Given the description of an element on the screen output the (x, y) to click on. 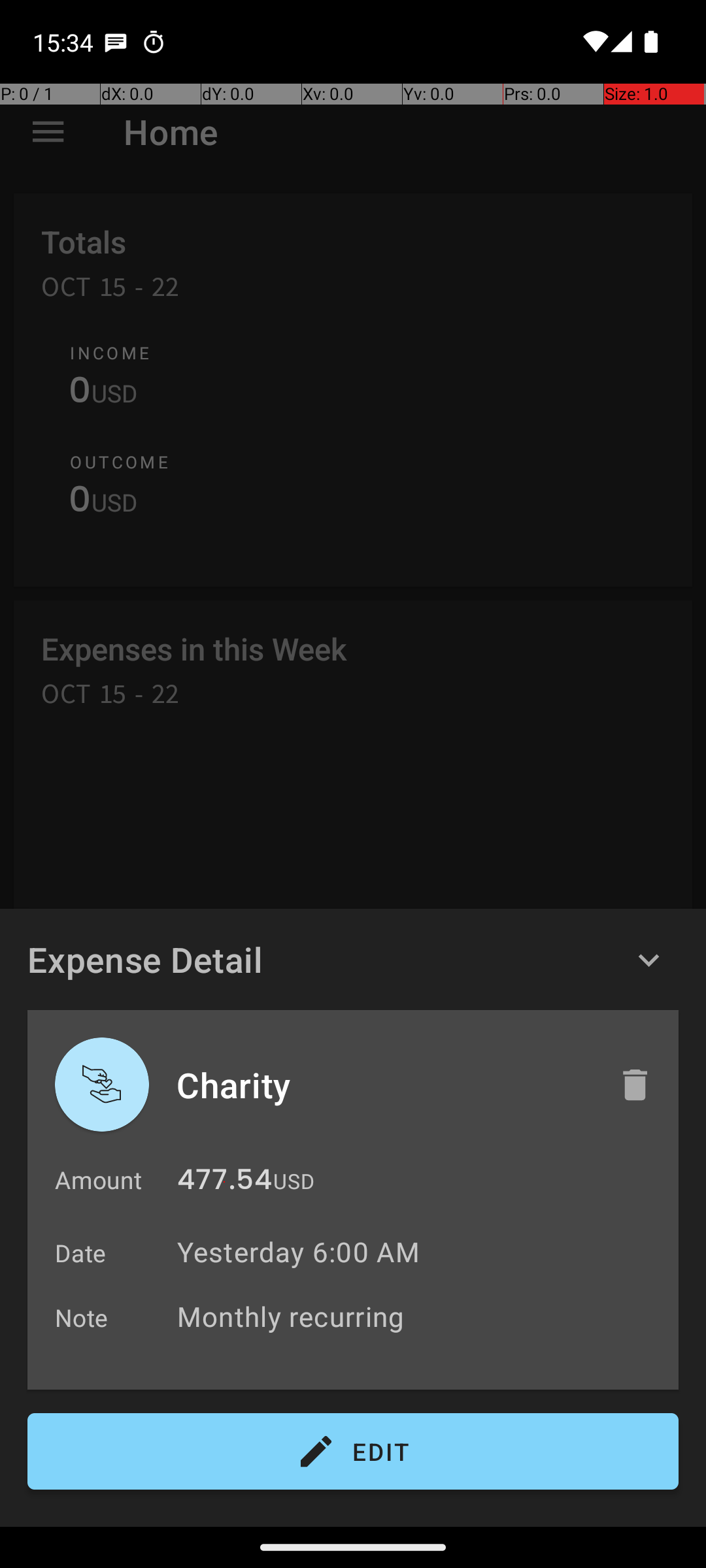
Charity Element type: android.widget.TextView (383, 1084)
477.54 Element type: android.widget.TextView (224, 1182)
Yesterday 6:00 AM Element type: android.widget.TextView (298, 1251)
SMS Messenger notification: Emily Ibrahim Element type: android.widget.ImageView (115, 41)
